Given the description of an element on the screen output the (x, y) to click on. 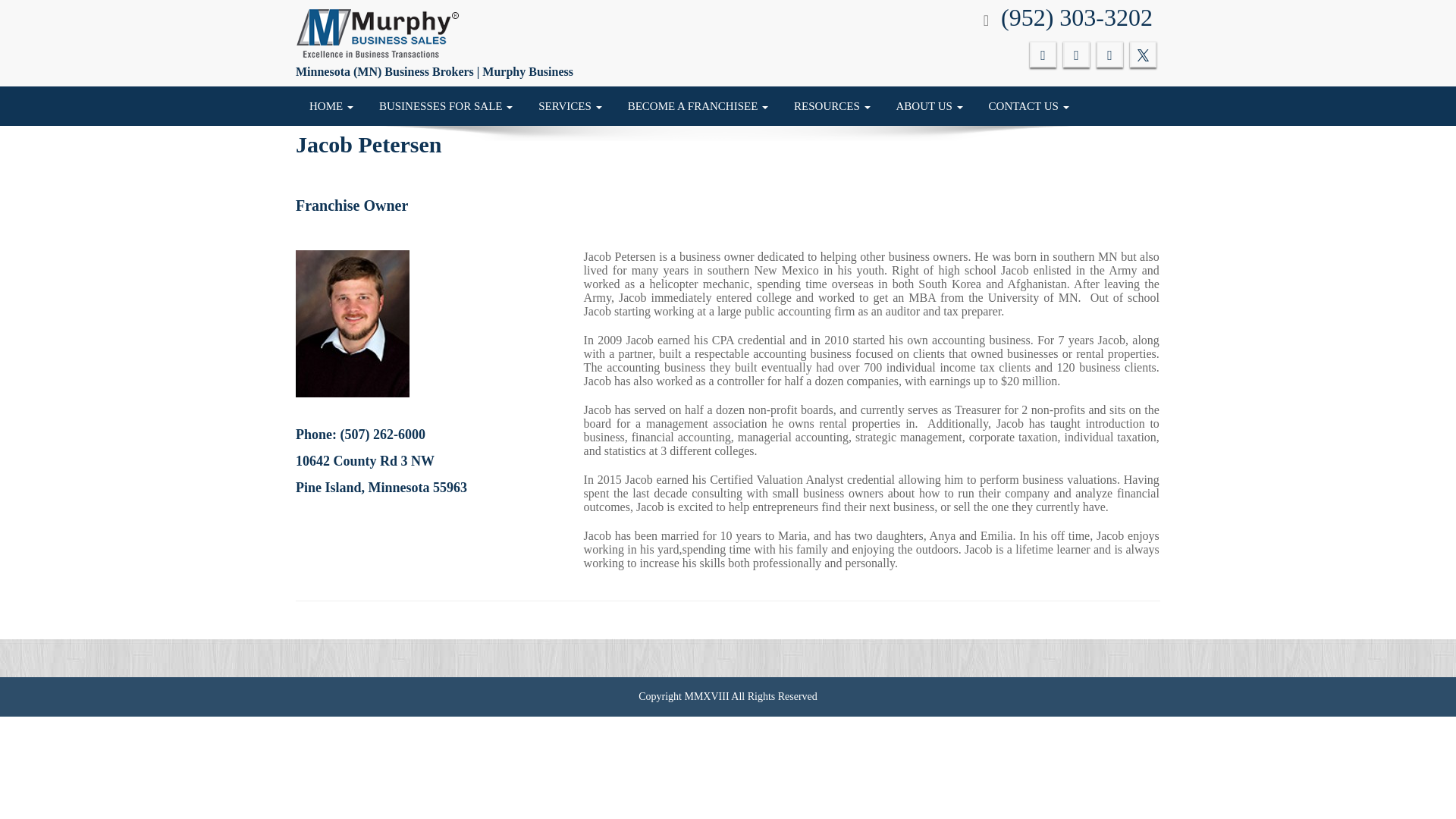
CONTACT US (1028, 105)
RESOURCES (831, 105)
Copyright MMXVIII All Rights Reserved (727, 696)
Services (569, 105)
Logo (377, 32)
HOME (331, 105)
BECOME A FRANCHISEE (698, 105)
ABOUT US (929, 105)
Home (331, 105)
BUSINESSES FOR SALE (446, 105)
